Given the description of an element on the screen output the (x, y) to click on. 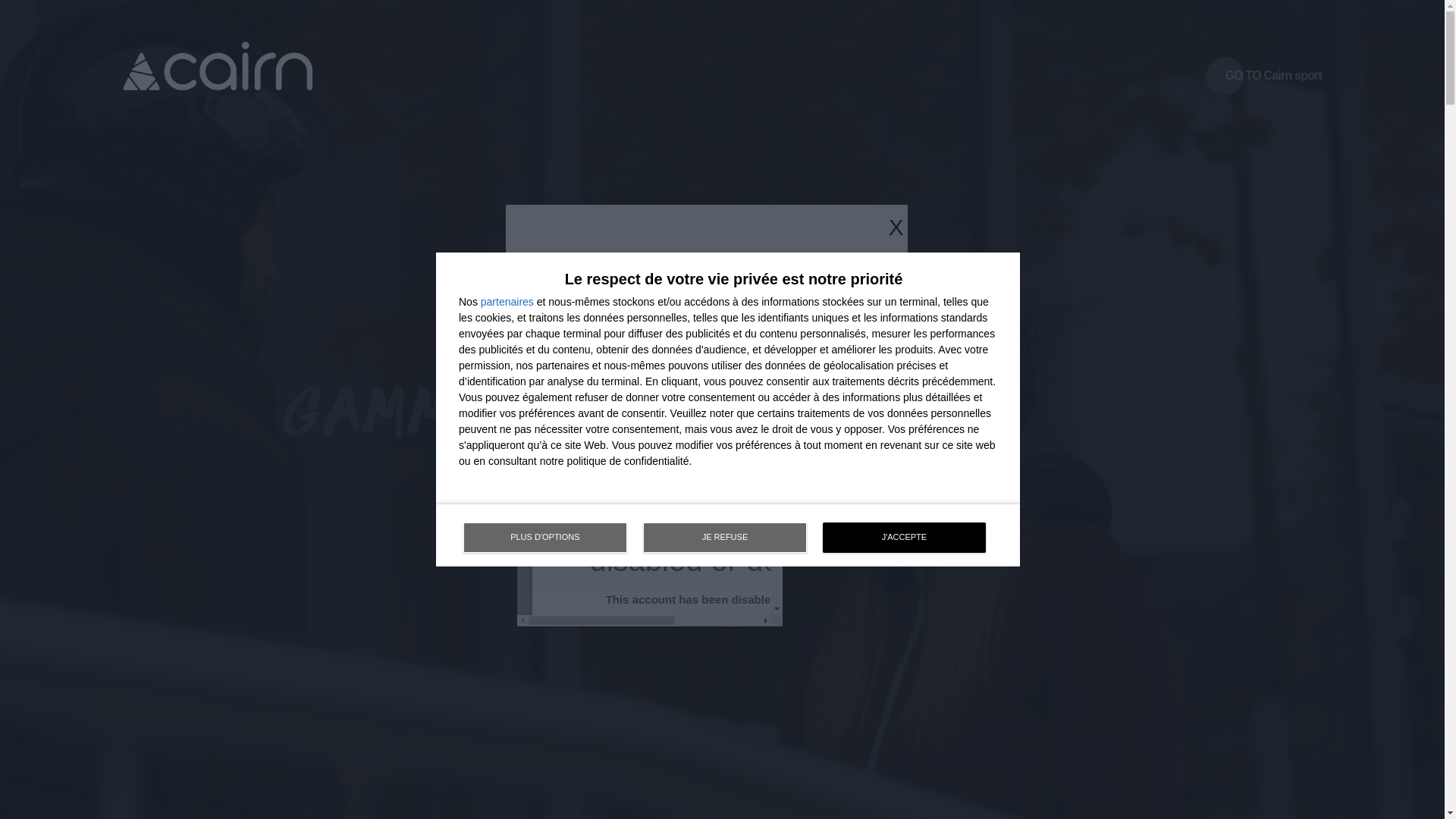
partenaires Element type: text (506, 301)
PLUS D'OPTIONS Element type: text (544, 537)
JE REFUSE Element type: text (725, 537)
J'ACCEPTE Element type: text (903, 537)
X Element type: text (714, 227)
GO TO Cairn sport Element type: text (1273, 75)
